Given the description of an element on the screen output the (x, y) to click on. 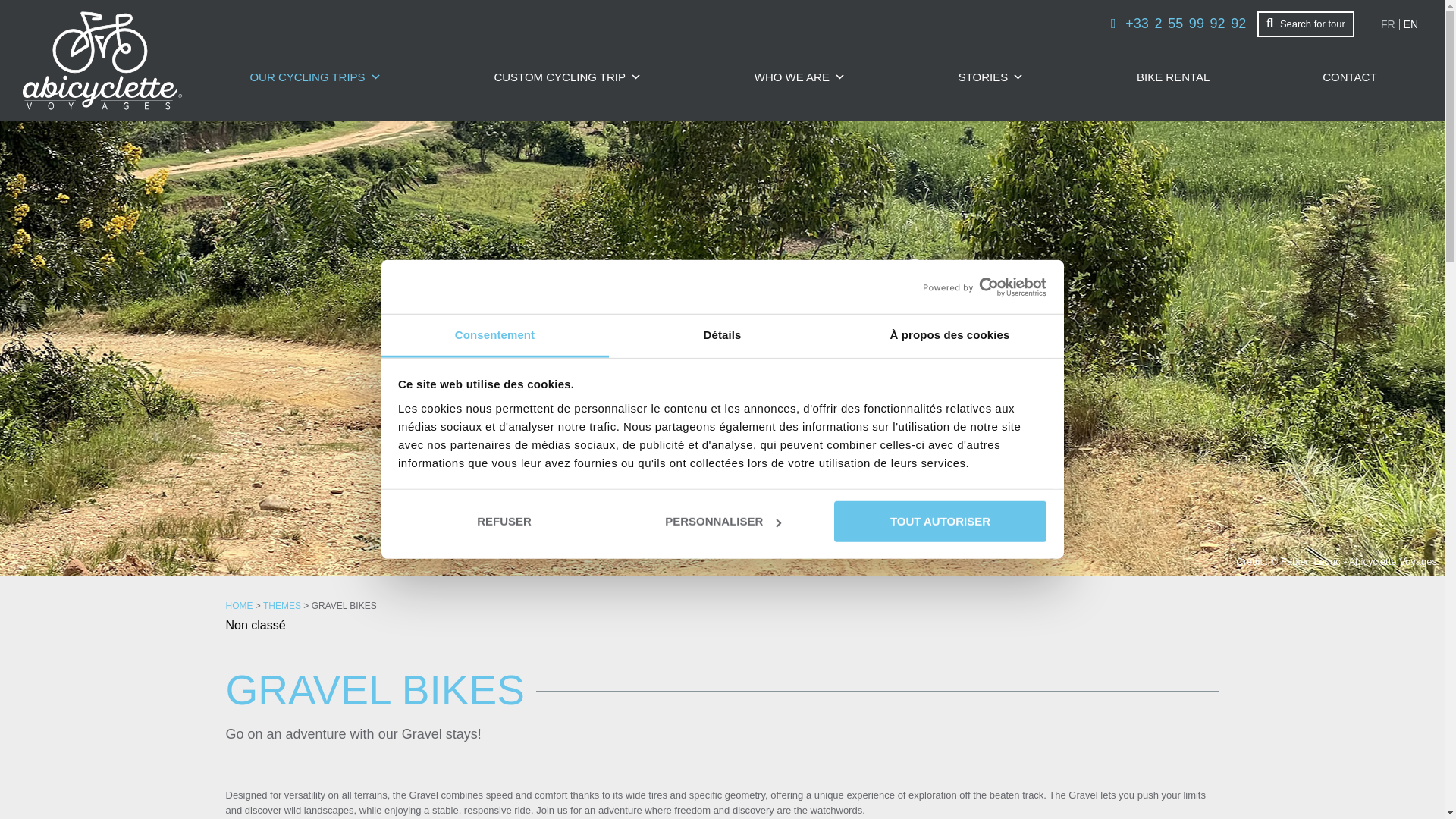
Consentement (494, 335)
